Given the description of an element on the screen output the (x, y) to click on. 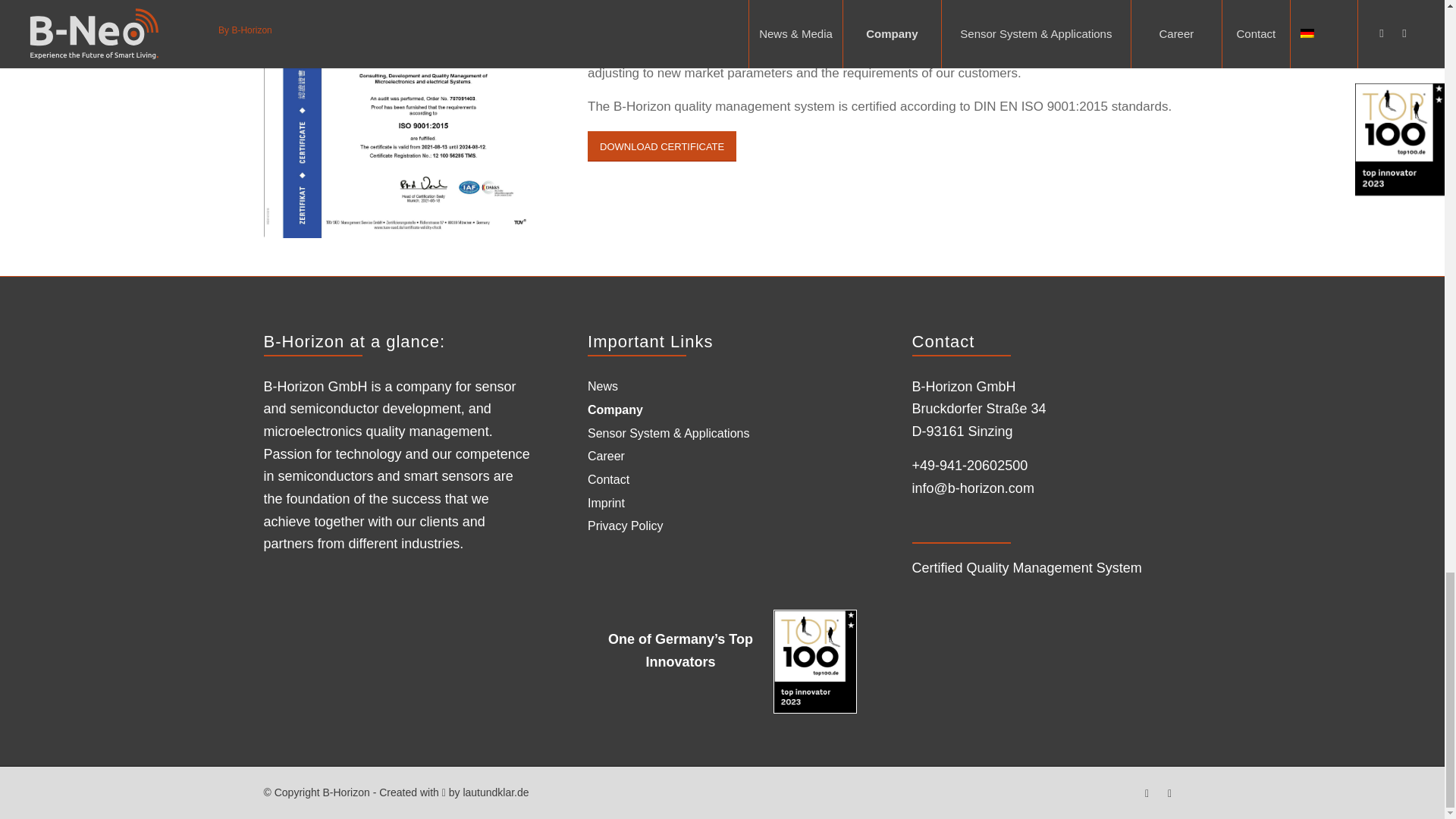
Privacy Policy (625, 526)
Company (617, 409)
Imprint (606, 503)
Contact (608, 479)
Career (606, 456)
DOWNLOAD CERTIFICATE (662, 146)
News (602, 386)
